Given the description of an element on the screen output the (x, y) to click on. 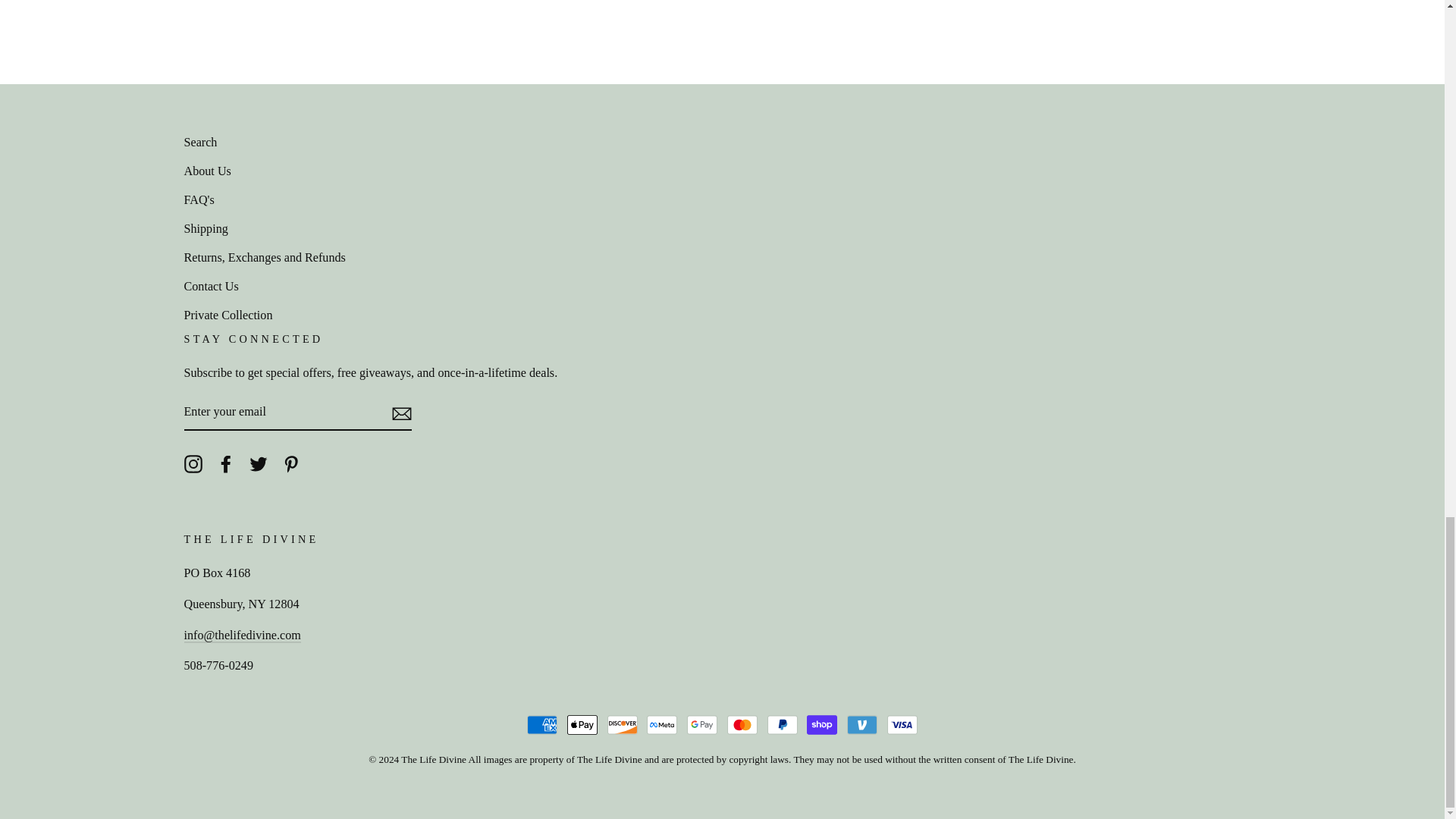
American Express (542, 725)
Contact Us (241, 635)
The Life Divine on Pinterest (290, 463)
The Life Divine on Instagram (192, 463)
The Life Divine on Twitter (257, 463)
The Life Divine on Facebook (225, 463)
Apple Pay (581, 725)
